Given the description of an element on the screen output the (x, y) to click on. 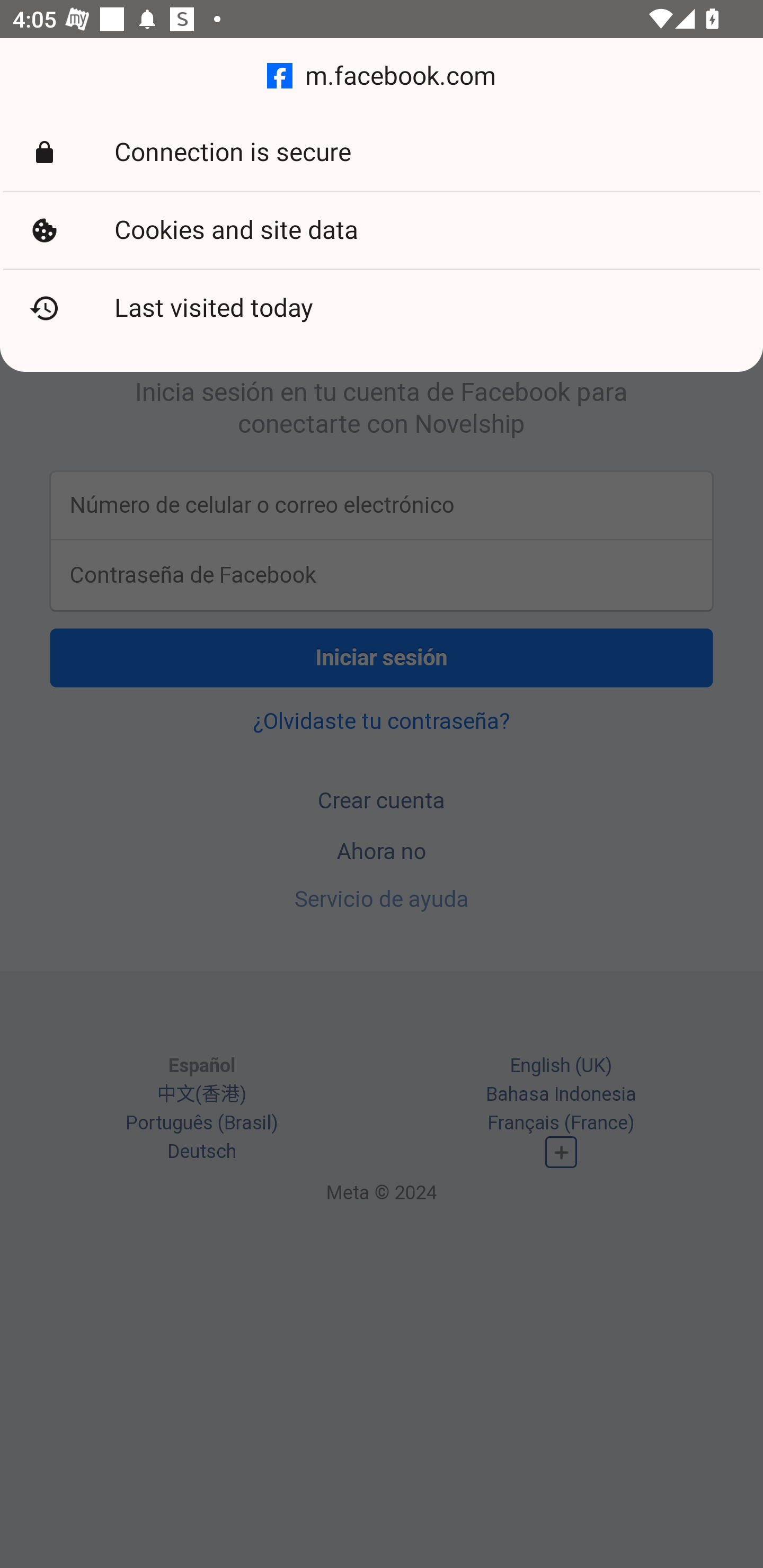
m.facebook.com (381, 75)
Connection is secure (381, 152)
Cookies and site data (381, 230)
Last visited today (381, 307)
